Given the description of an element on the screen output the (x, y) to click on. 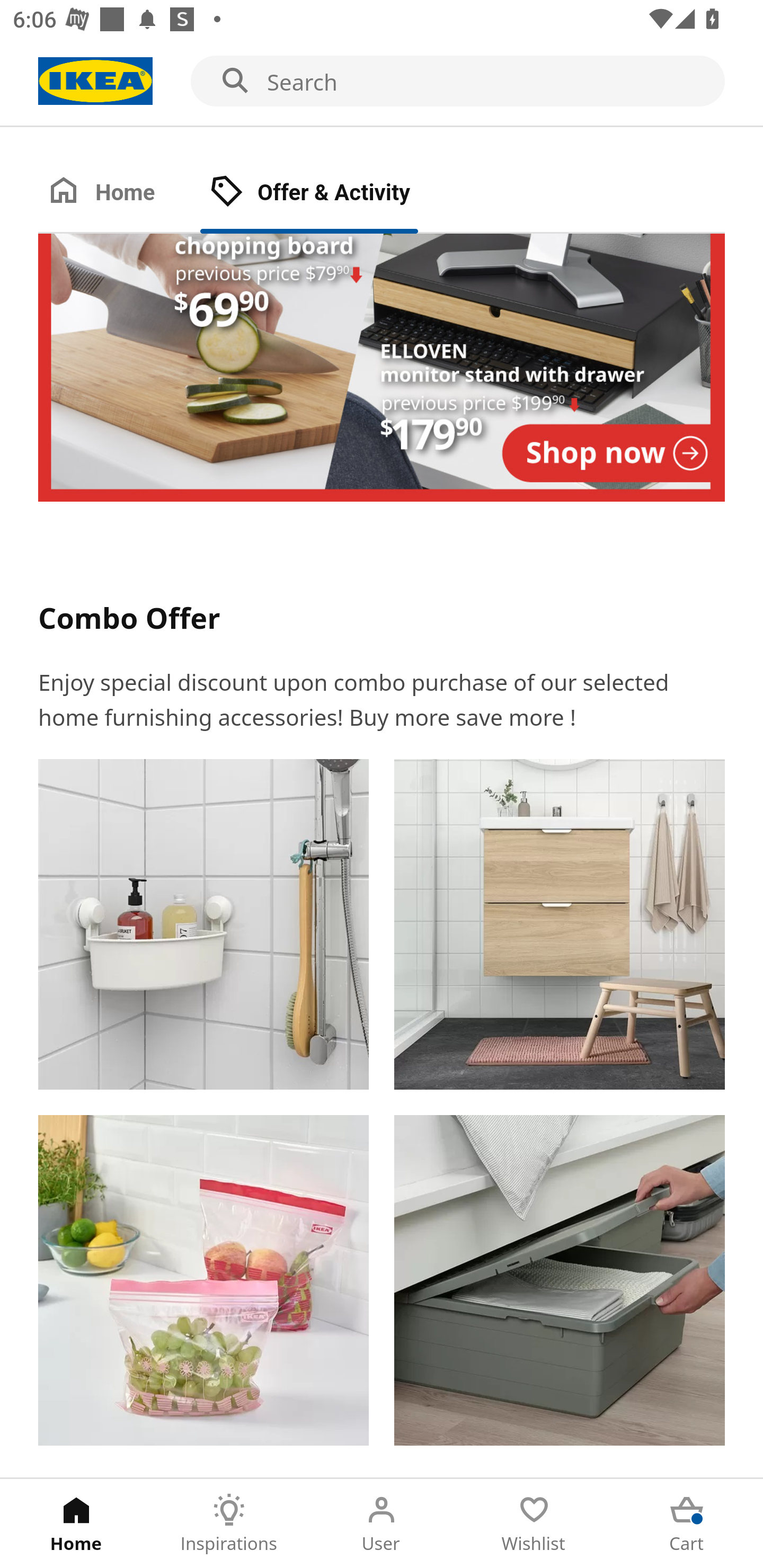
Search (381, 81)
Home
Tab 1 of 2 (118, 192)
Offer & Activity
Tab 2 of 2 (327, 192)
Home
Tab 1 of 5 (76, 1522)
Inspirations
Tab 2 of 5 (228, 1522)
User
Tab 3 of 5 (381, 1522)
Wishlist
Tab 4 of 5 (533, 1522)
Cart
Tab 5 of 5 (686, 1522)
